Given the description of an element on the screen output the (x, y) to click on. 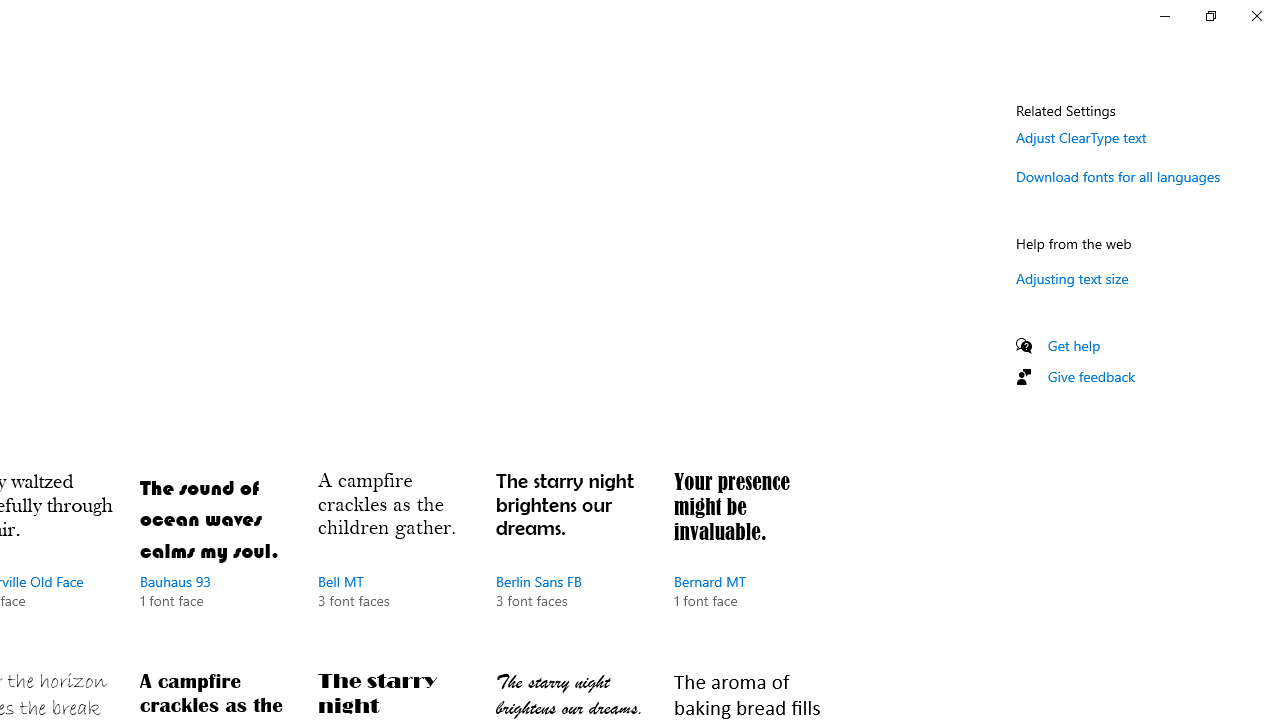
Restore Settings (1210, 15)
Download fonts for all languages (1118, 176)
Adjusting text size (1072, 278)
Berlin Sans FB, 3 font faces (570, 560)
Bernard MT, 1 font face (748, 560)
Get help (1074, 345)
Bell MT, 3 font faces (392, 560)
Adjust ClearType text (1081, 137)
Close Settings (1256, 15)
Minimize Settings (1164, 15)
Give feedback (1091, 376)
Bauhaus 93, 1 font face (214, 560)
